Given the description of an element on the screen output the (x, y) to click on. 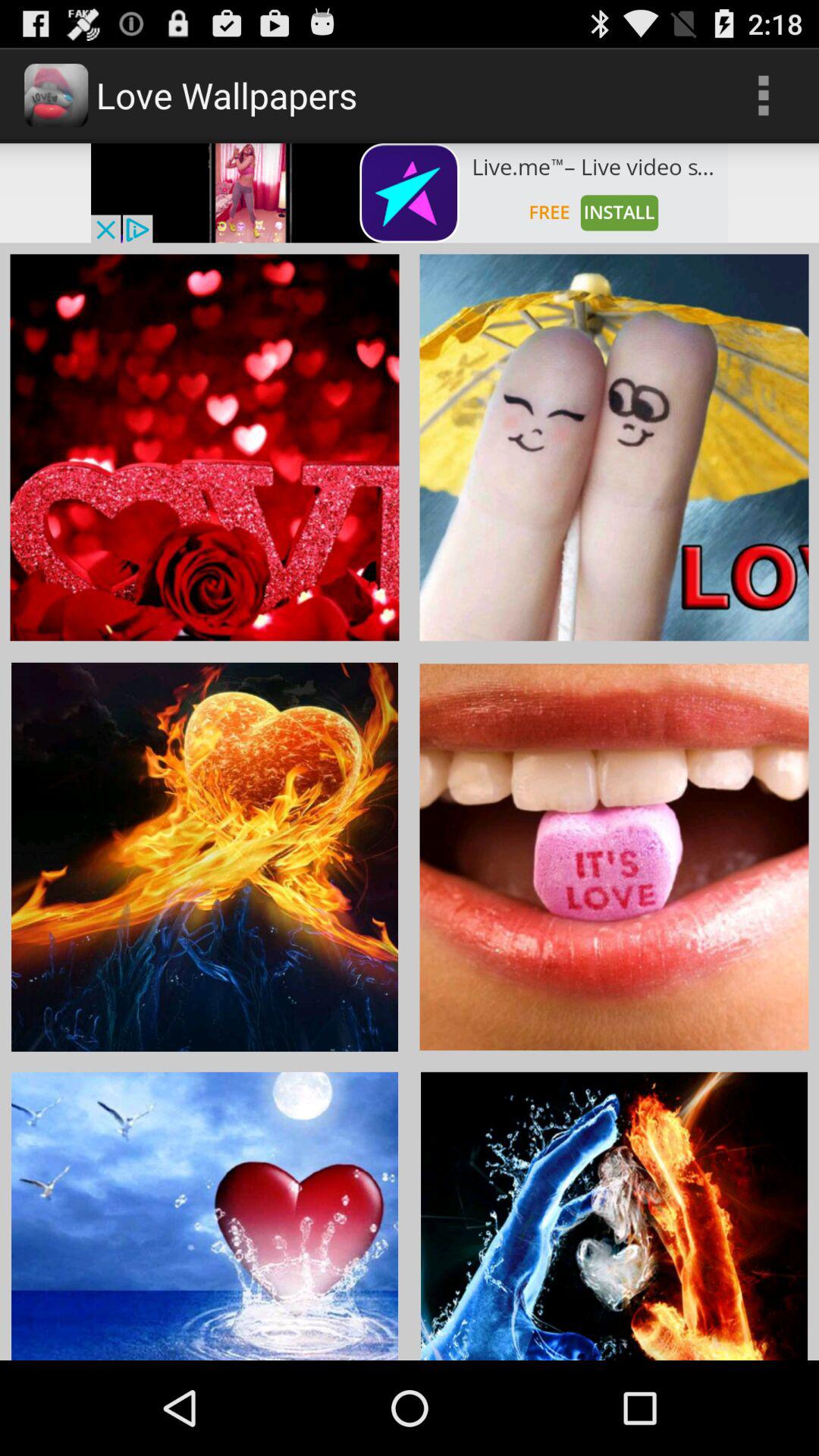
advertisement (409, 192)
